Given the description of an element on the screen output the (x, y) to click on. 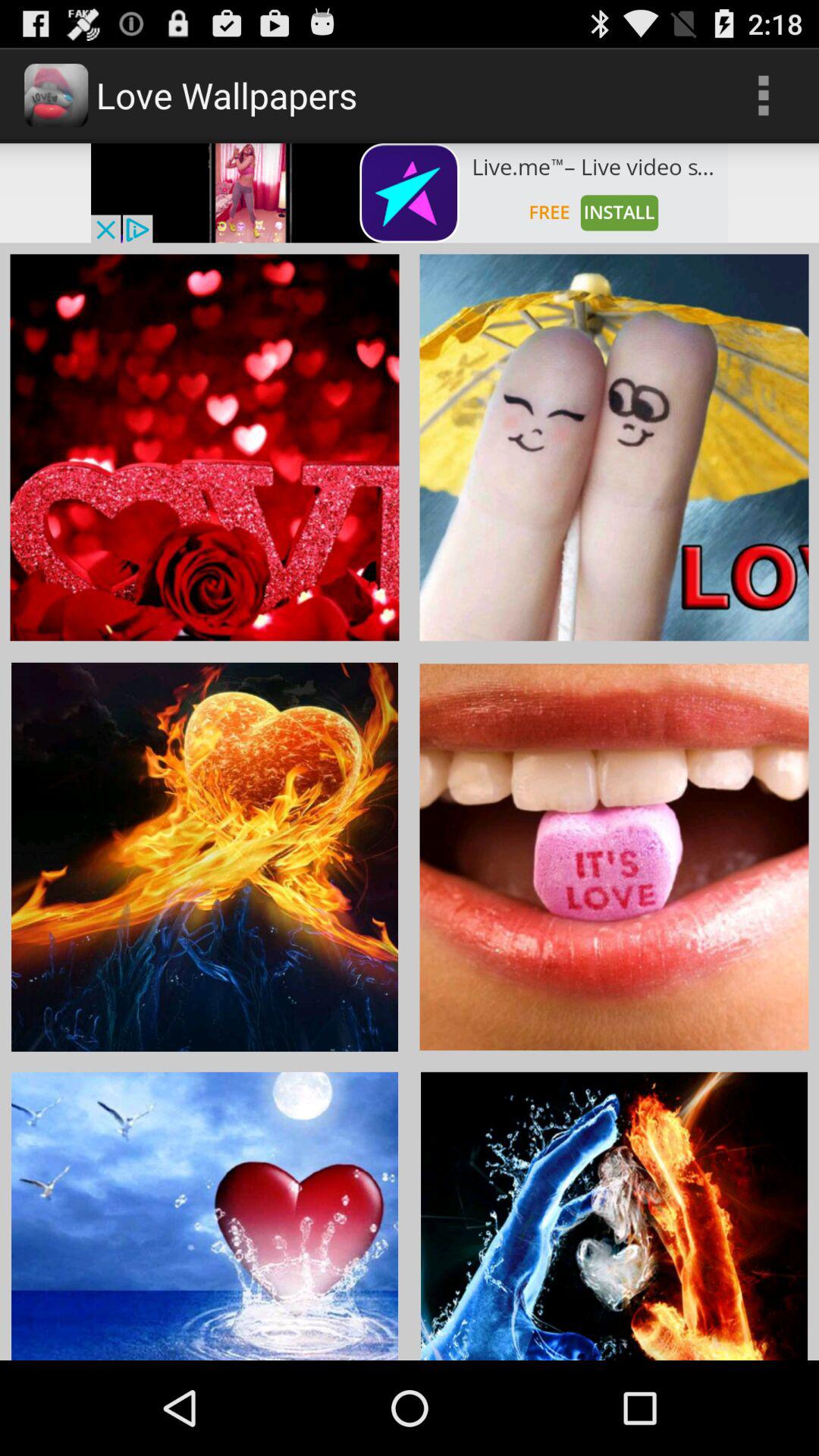
advertisement (409, 192)
